Given the description of an element on the screen output the (x, y) to click on. 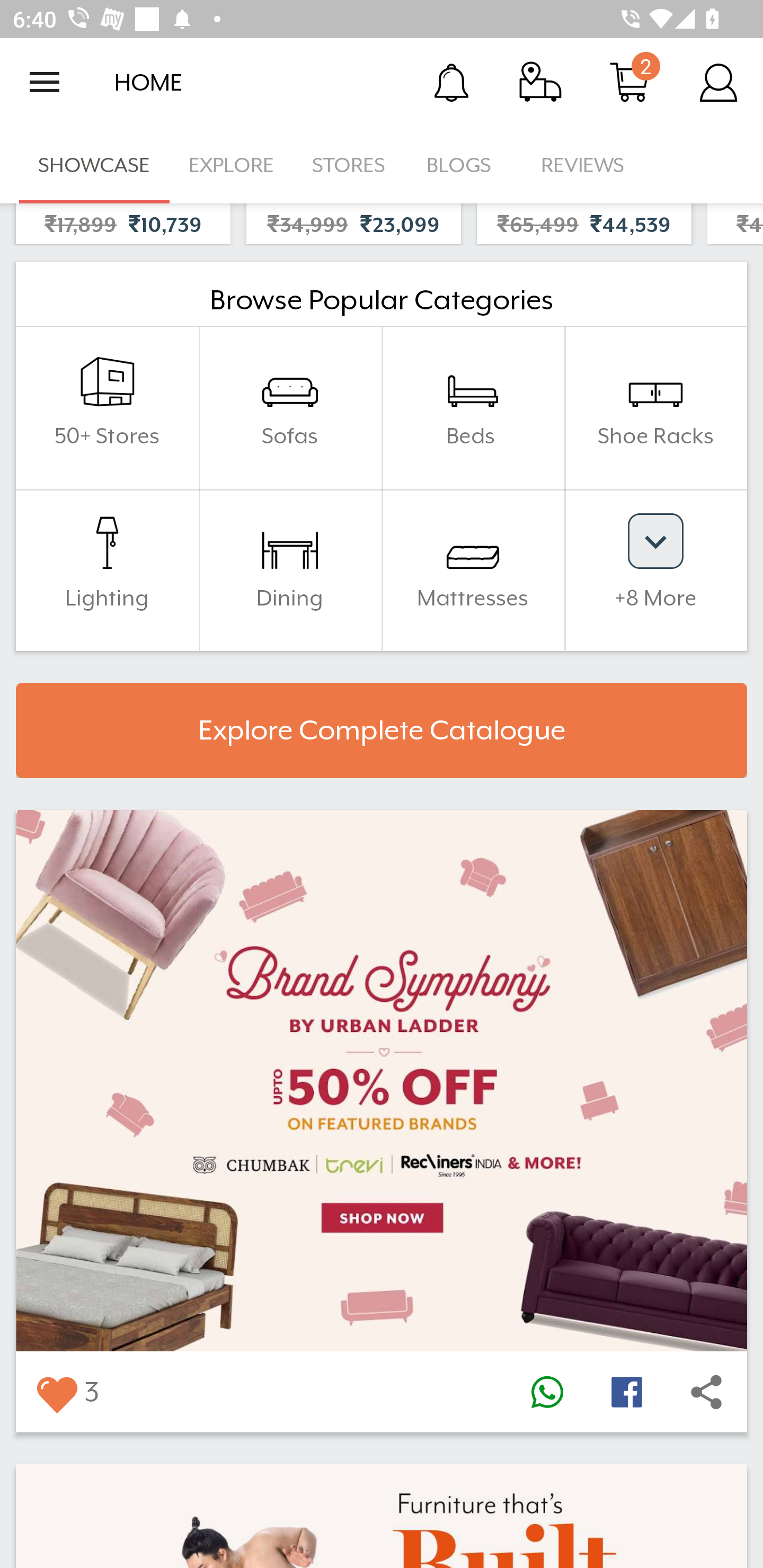
Open navigation drawer (44, 82)
Notification (450, 81)
Track Order (540, 81)
Cart (629, 81)
Account Details (718, 81)
SHOWCASE (94, 165)
EXPLORE (230, 165)
STORES (349, 165)
BLOGS (464, 165)
REVIEWS (582, 165)
50+ Stores (106, 407)
Sofas (289, 407)
Beds  (473, 407)
Shoe Racks (655, 407)
Lighting (106, 569)
Dining (289, 569)
Mattresses (473, 569)
 +8 More (655, 569)
Explore Complete Catalogue (381, 729)
 (55, 1391)
 (547, 1391)
 (626, 1391)
 (706, 1391)
